Given the description of an element on the screen output the (x, y) to click on. 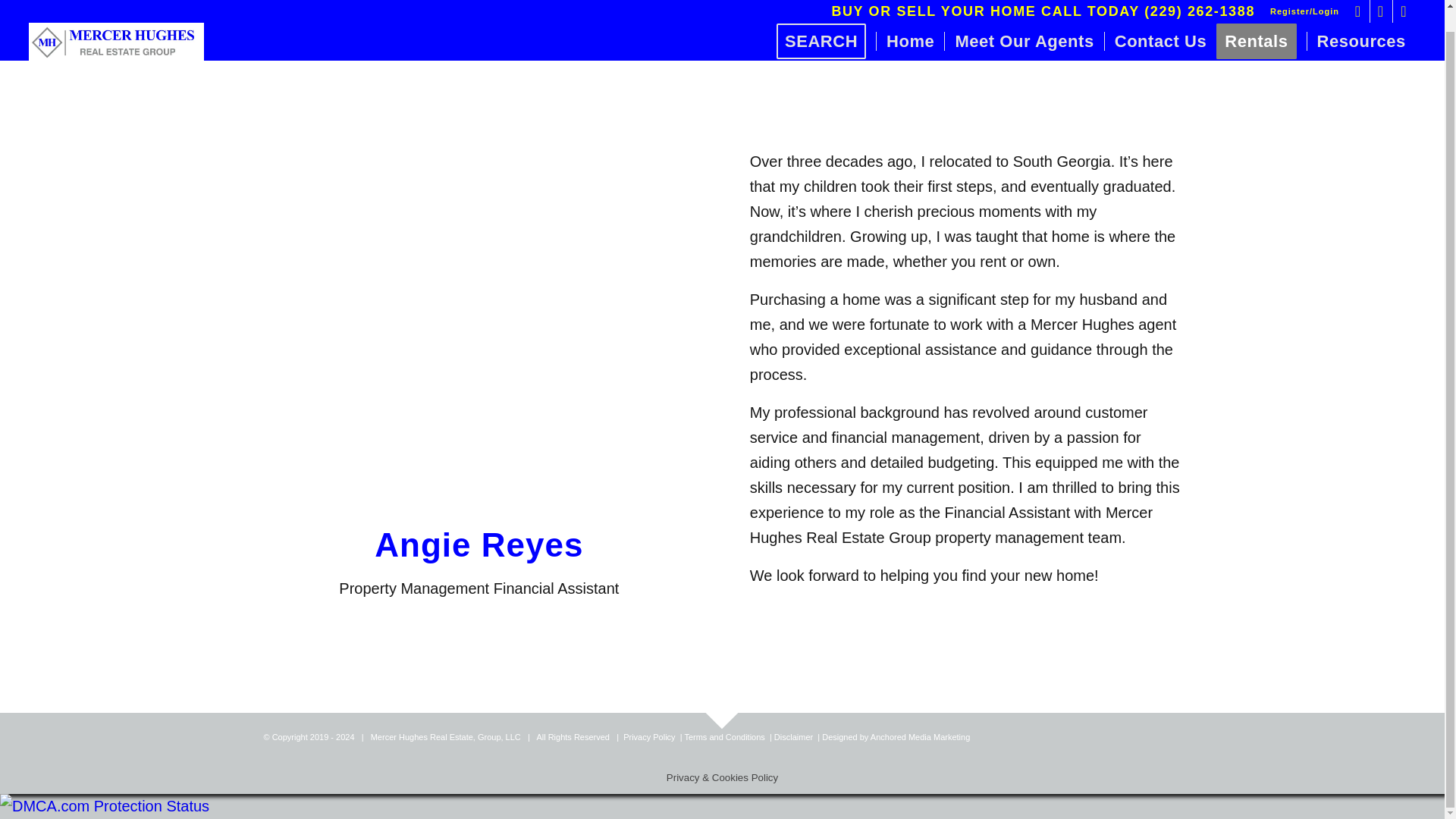
mercer-hughes-real-estate-group-valdosta (116, 20)
Instagram (1380, 0)
Contact Us (1160, 20)
Home (909, 20)
Meet Our Agents (1023, 20)
DMCA.com Protection Status (104, 805)
Resources (1360, 20)
X (1404, 0)
Anchored Media Marketing (919, 737)
Terms and Conditions (724, 737)
Privacy Policy (649, 737)
Disclaimer (793, 737)
SEARCH (826, 20)
Rentals (1260, 20)
Facebook (1359, 0)
